Given the description of an element on the screen output the (x, y) to click on. 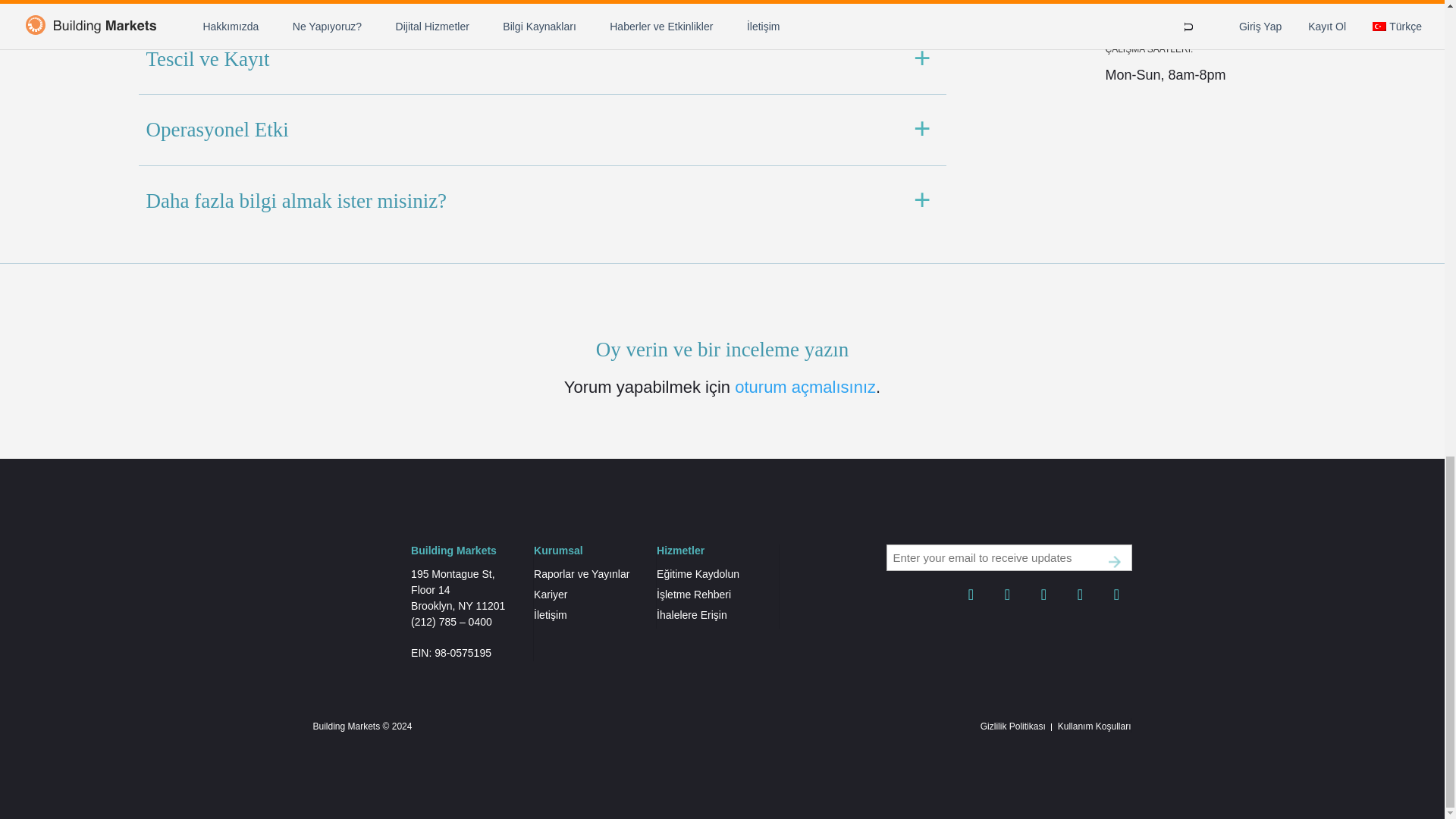
Submit (1114, 561)
